Given the description of an element on the screen output the (x, y) to click on. 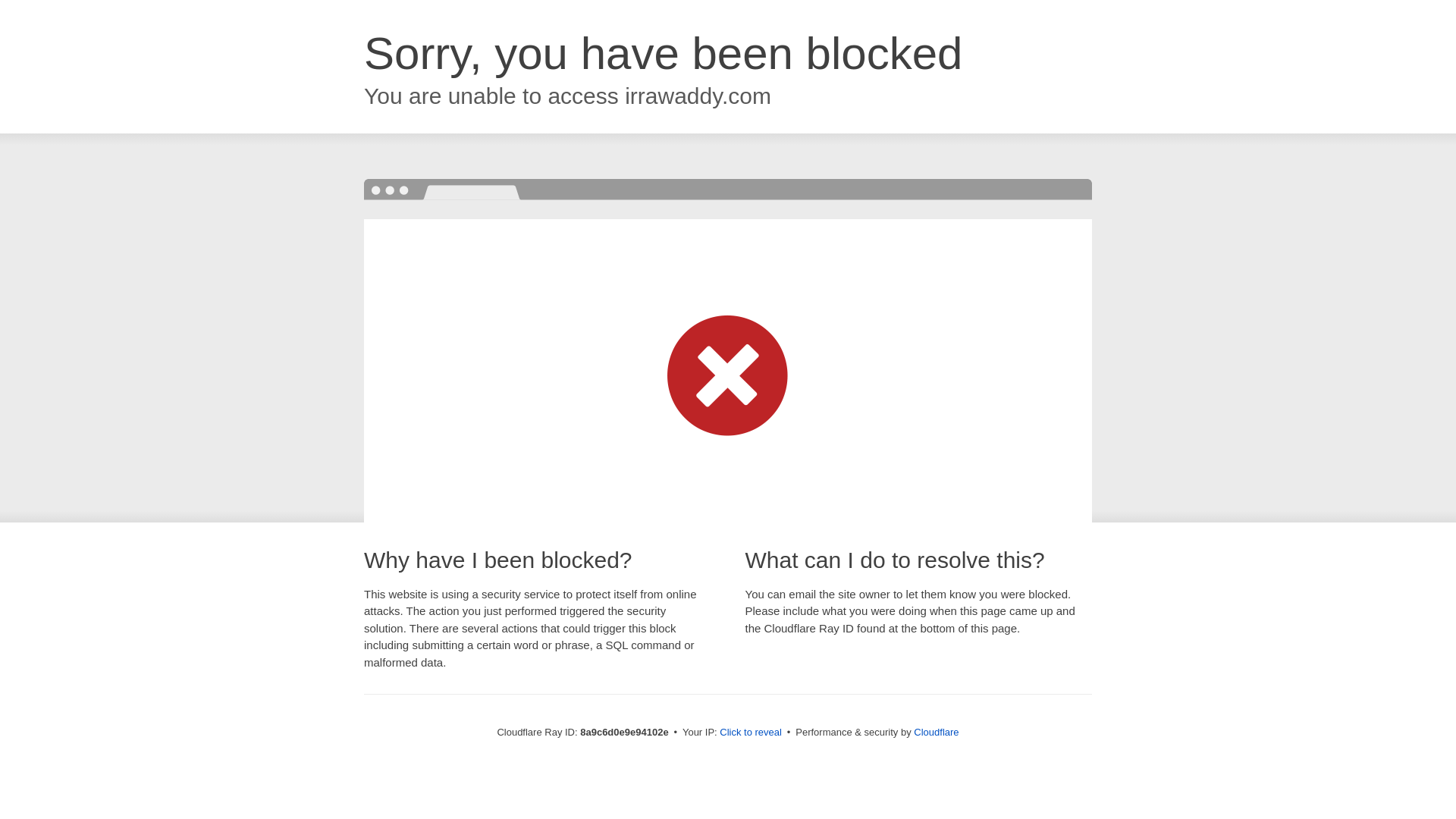
Cloudflare (936, 731)
Click to reveal (750, 732)
